Given the description of an element on the screen output the (x, y) to click on. 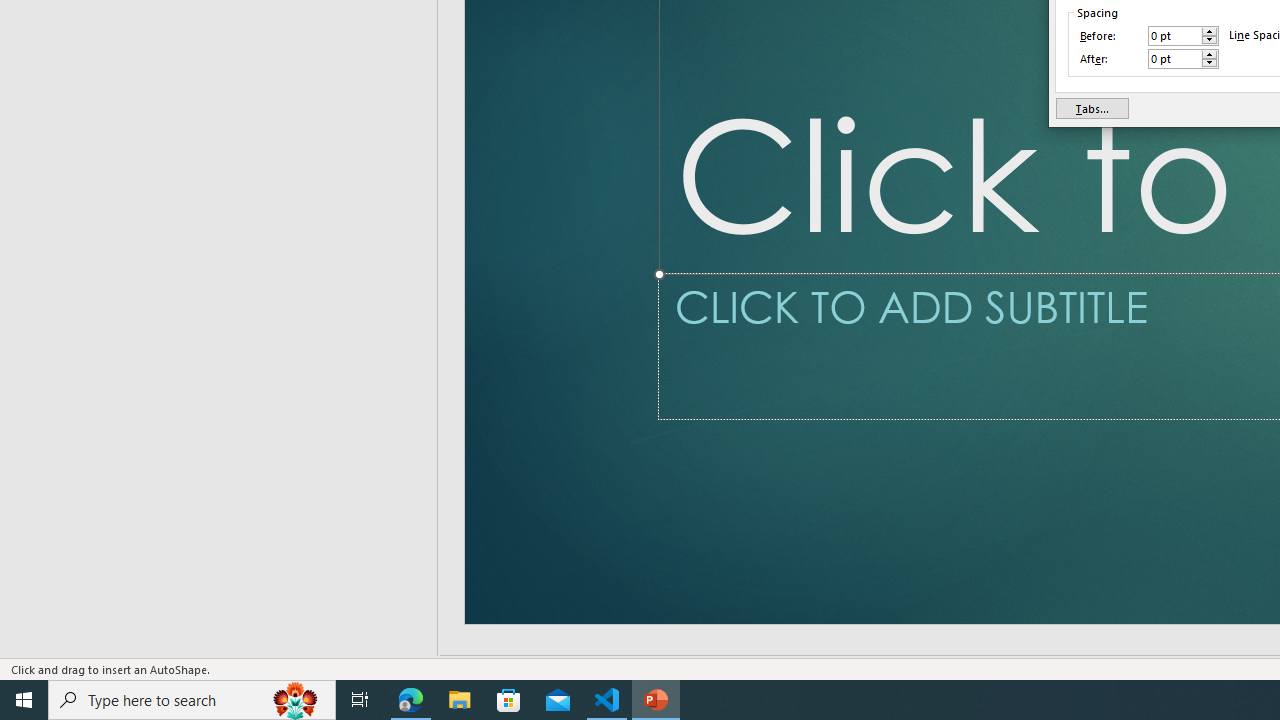
Tabs... (1092, 108)
